Given the description of an element on the screen output the (x, y) to click on. 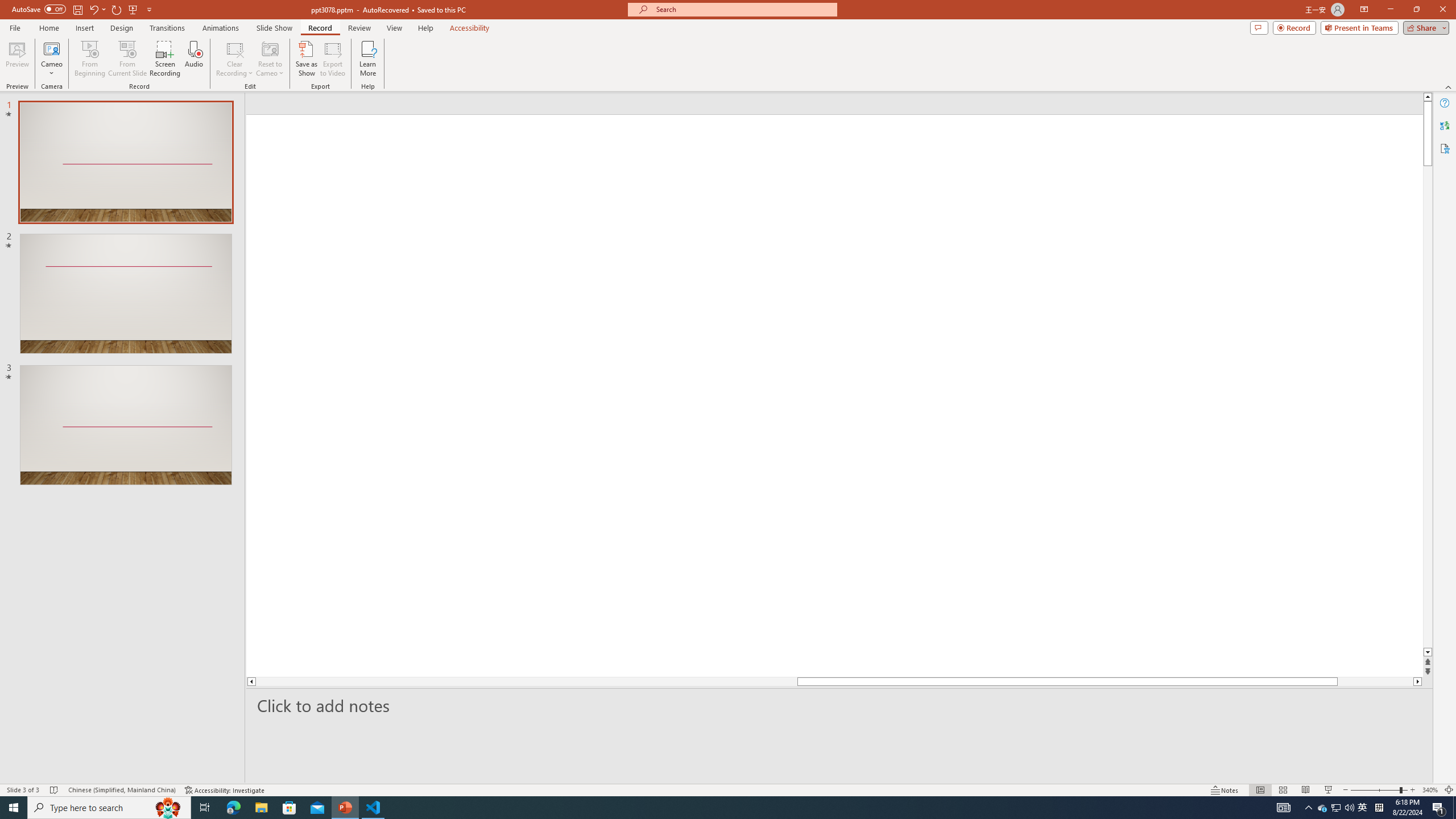
An abstract genetic concept (834, 395)
Export to Video (332, 58)
